Given the description of an element on the screen output the (x, y) to click on. 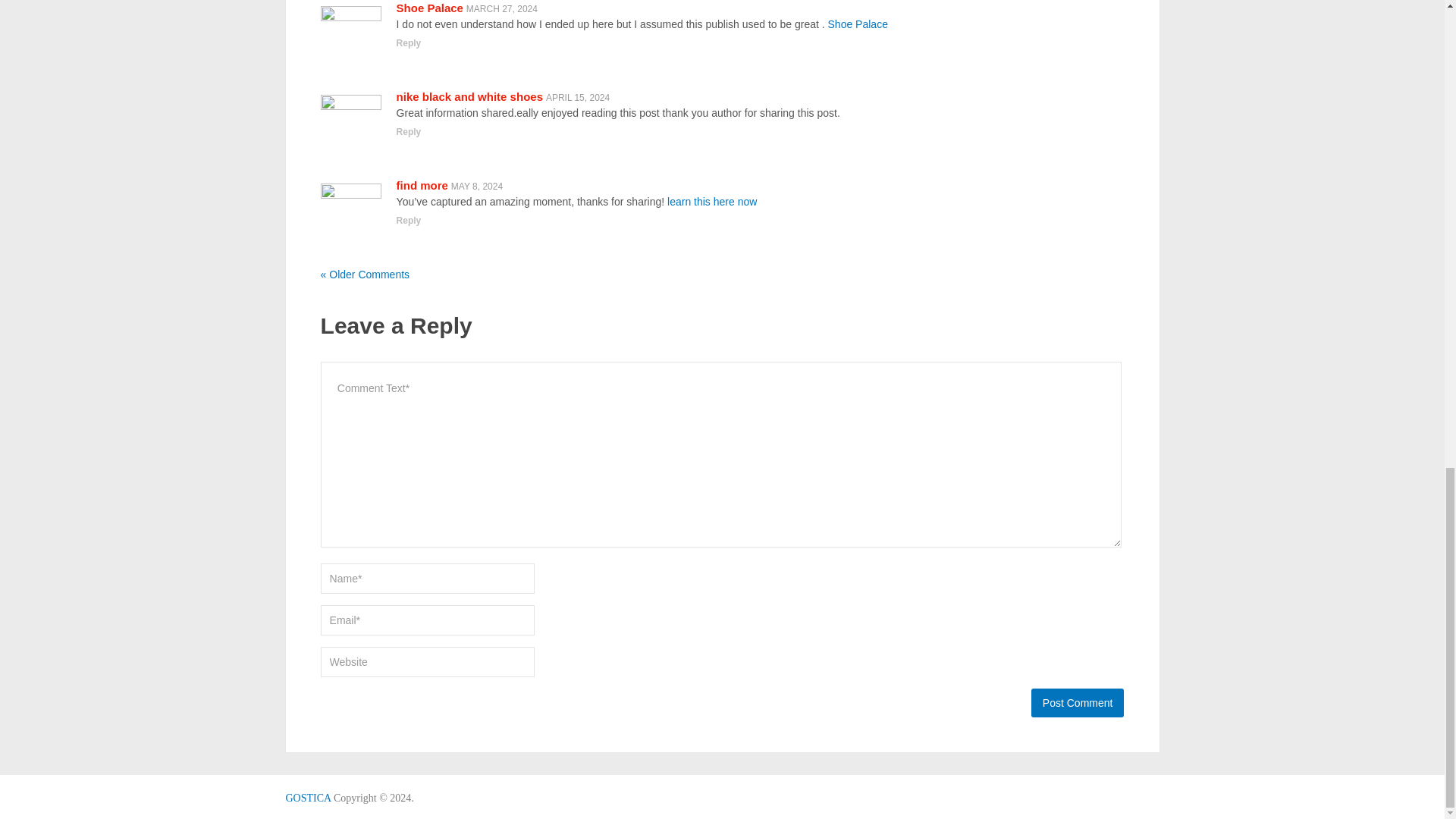
Reply (409, 42)
Post Comment (1077, 702)
nike black and white shoes (469, 96)
Shoe Palace (429, 7)
Shoe Palace (858, 24)
 The Spiritual Path (307, 797)
